Given the description of an element on the screen output the (x, y) to click on. 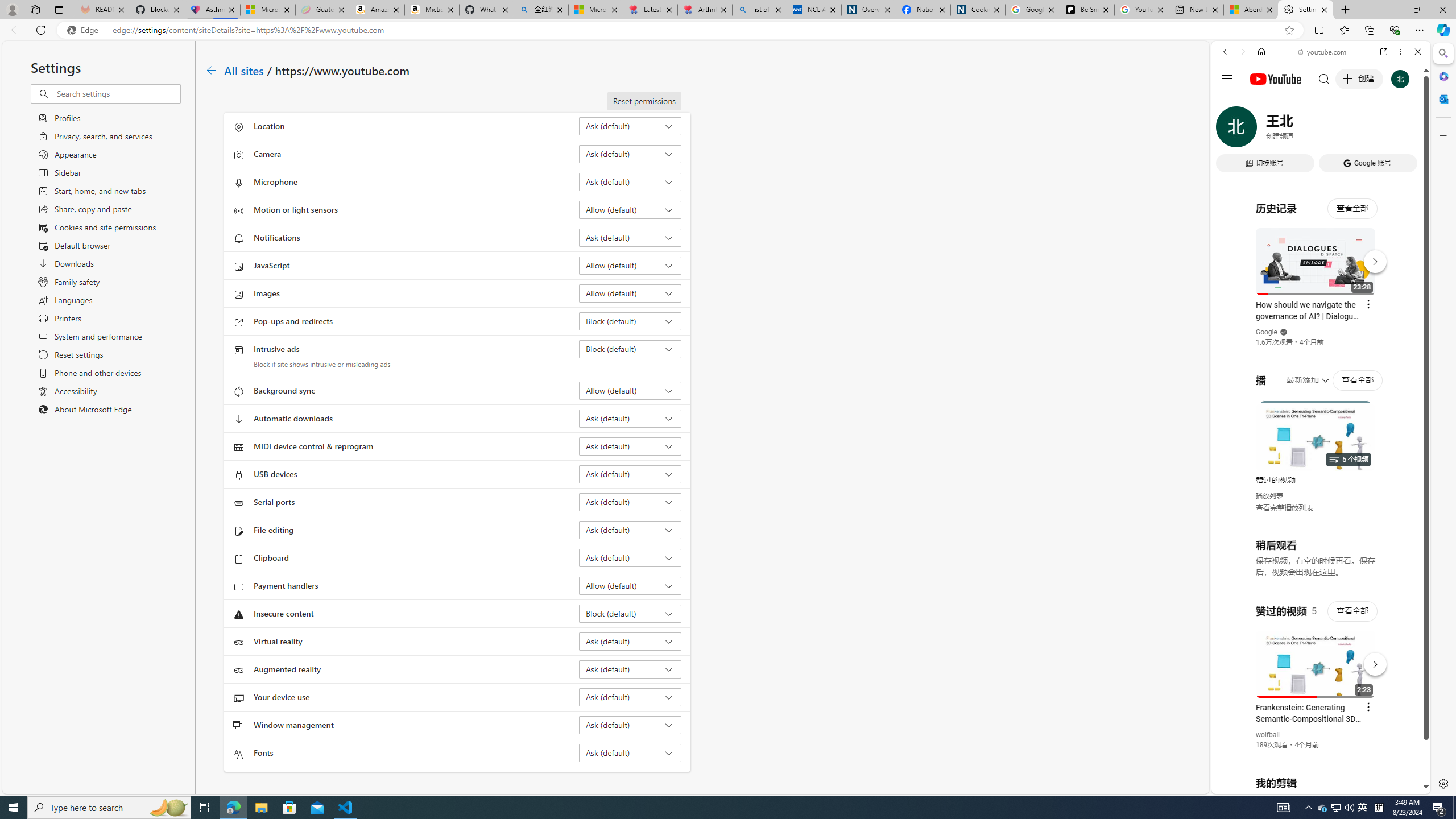
Search the web (1326, 78)
Preferences (1403, 129)
Payment handlers Allow (default) (630, 585)
Asthma Inhalers: Names and Types (212, 9)
Class: c01162 (210, 70)
Class: dict_pnIcon rms_img (1312, 784)
